Given the description of an element on the screen output the (x, y) to click on. 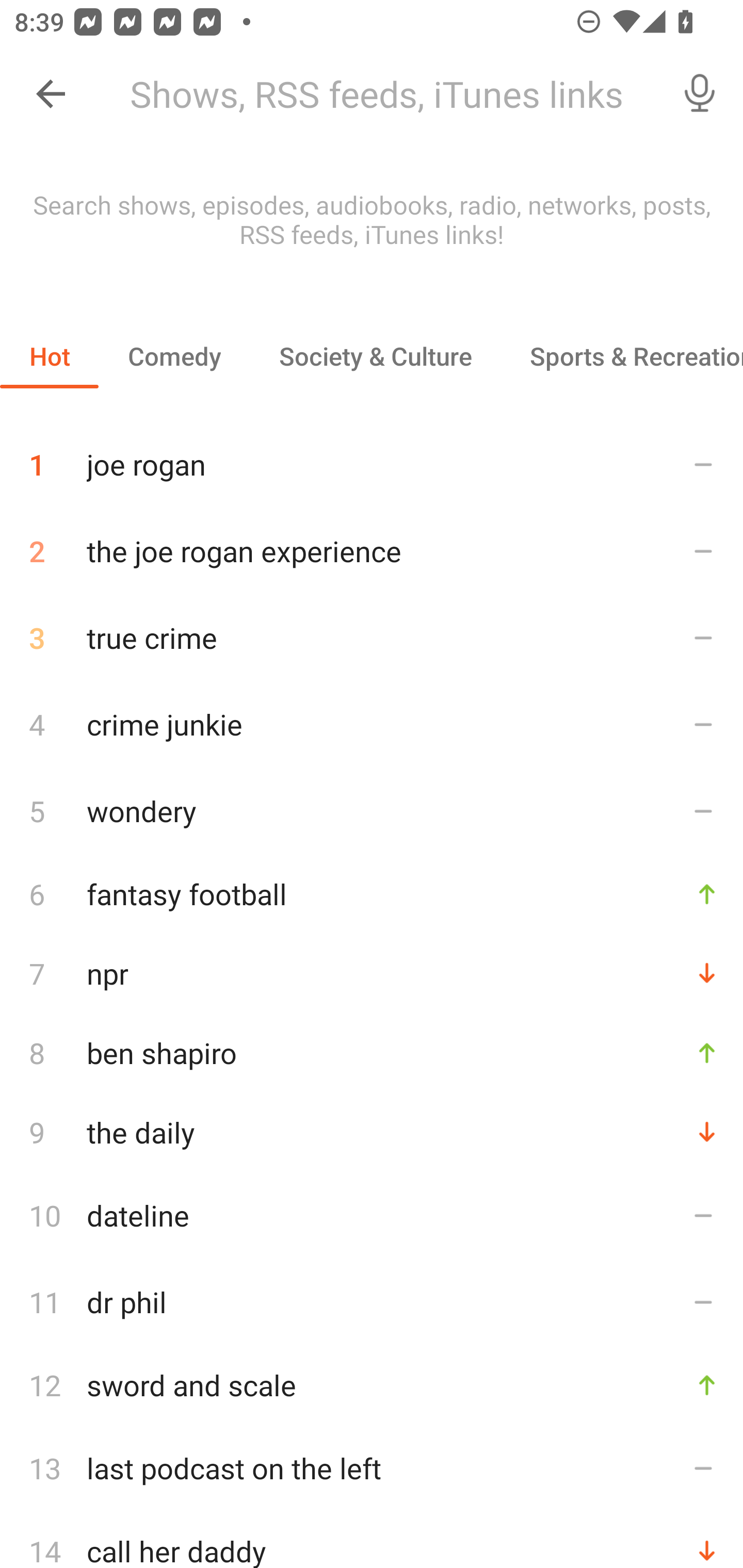
Collapse (50, 93)
Voice Search (699, 93)
Shows, RSS feeds, iTunes links (385, 94)
Hot (49, 355)
Comedy (173, 355)
Society & Culture (374, 355)
Sports & Recreation (621, 355)
1 joe rogan (371, 457)
2 the joe rogan experience (371, 551)
3 true crime (371, 637)
4 crime junkie (371, 723)
5 wondery (371, 810)
6 fantasy football (371, 893)
7 npr (371, 972)
8 ben shapiro (371, 1052)
9 the daily (371, 1131)
10 dateline (371, 1215)
11 dr phil (371, 1302)
12 sword and scale (371, 1385)
13 last podcast on the left (371, 1468)
14 call her daddy (371, 1539)
